Given the description of an element on the screen output the (x, y) to click on. 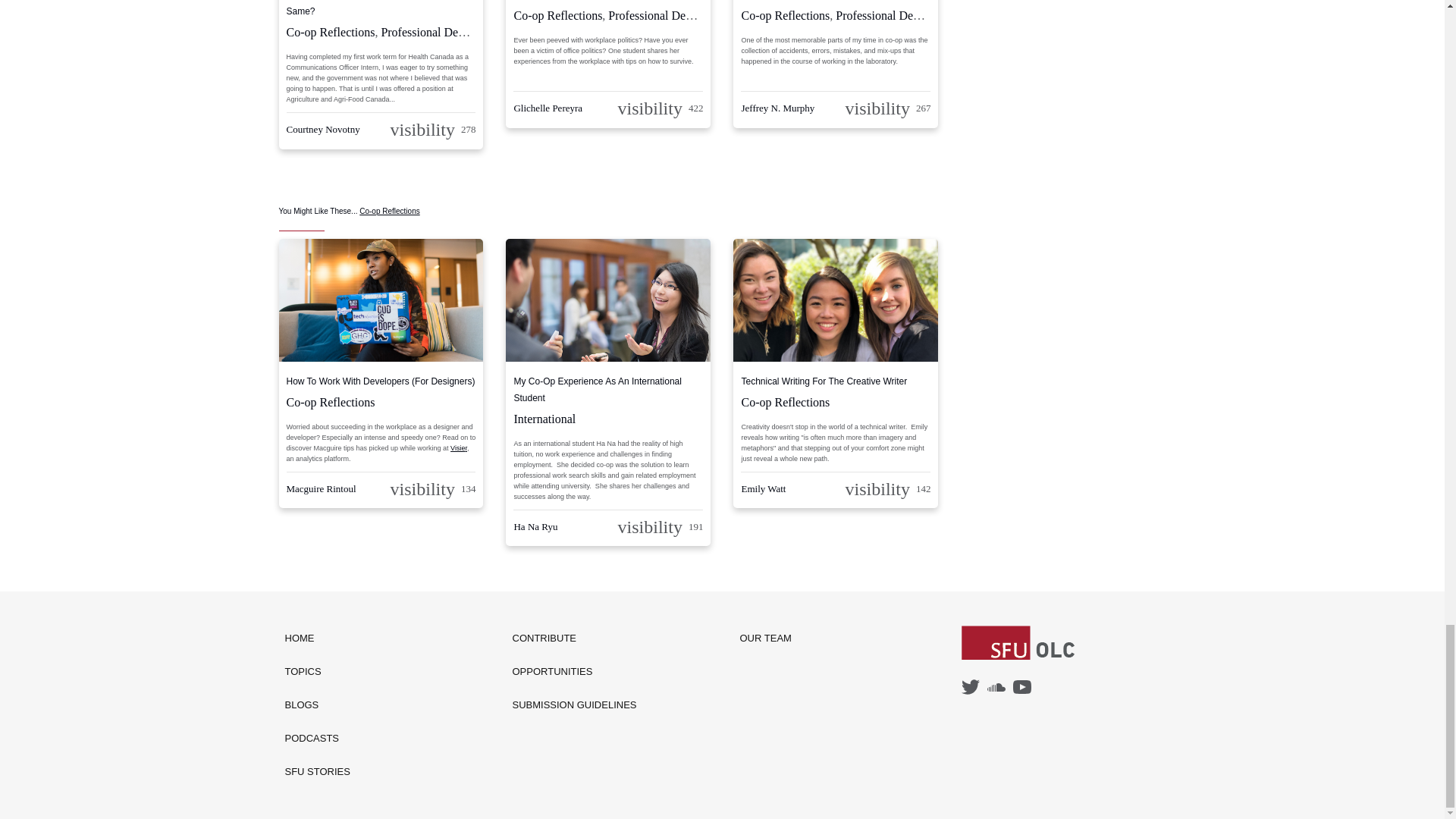
Contribute to the OLC (574, 638)
OLC Blogs (317, 704)
